Given the description of an element on the screen output the (x, y) to click on. 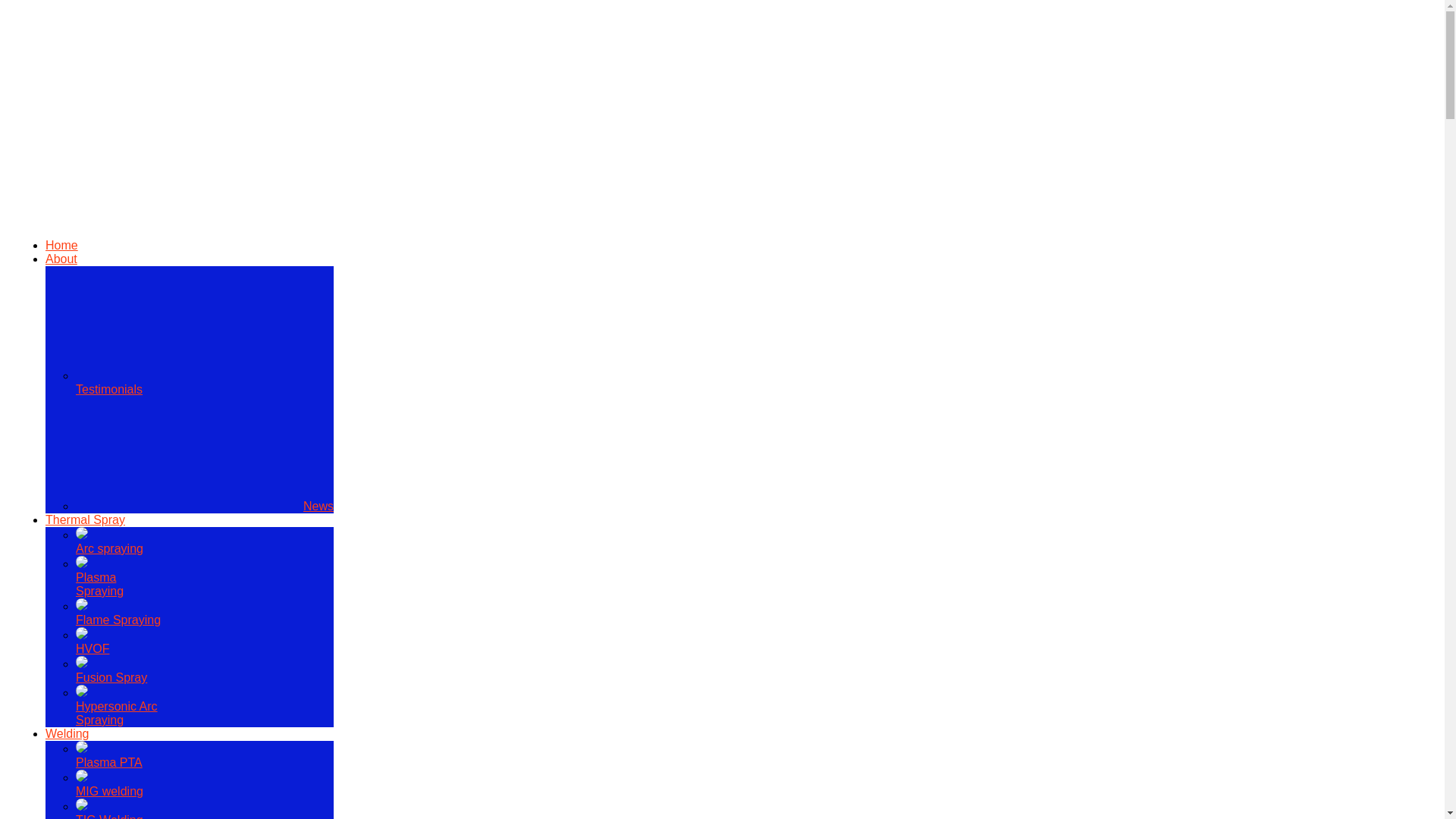
Home (61, 245)
Plasma PTA (108, 755)
Plasma Spraying (99, 577)
About (61, 258)
MIG welding (108, 784)
Arc spraying (108, 541)
Thermal Spray (85, 519)
Testimonials (188, 382)
News (204, 505)
Fusion Spray (111, 670)
Welding (66, 733)
TIG Welding (108, 809)
HVOF (92, 641)
Flame Spraying (117, 612)
Hypersonic Arc Spraying (116, 706)
